Given the description of an element on the screen output the (x, y) to click on. 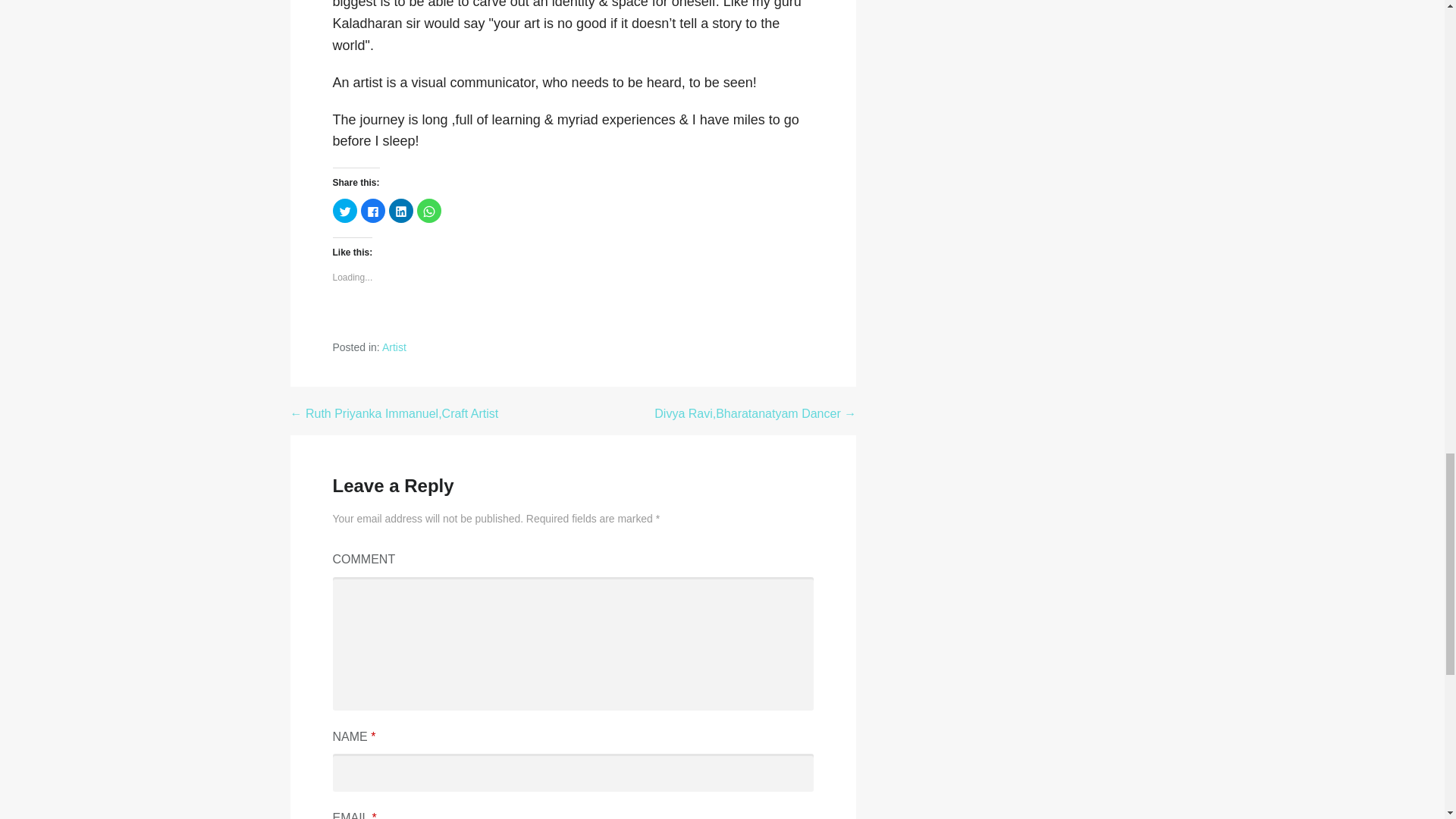
Click to share on WhatsApp (428, 210)
Artist (393, 346)
Click to share on LinkedIn (400, 210)
Click to share on Twitter (343, 210)
Click to share on Facebook (373, 210)
